Given the description of an element on the screen output the (x, y) to click on. 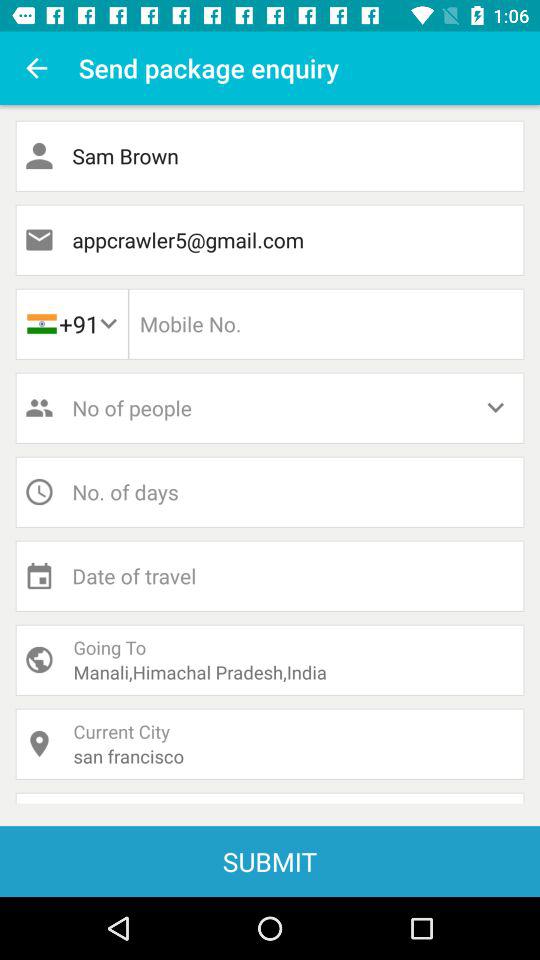
launch icon to the left of the send package enquiry (36, 68)
